Given the description of an element on the screen output the (x, y) to click on. 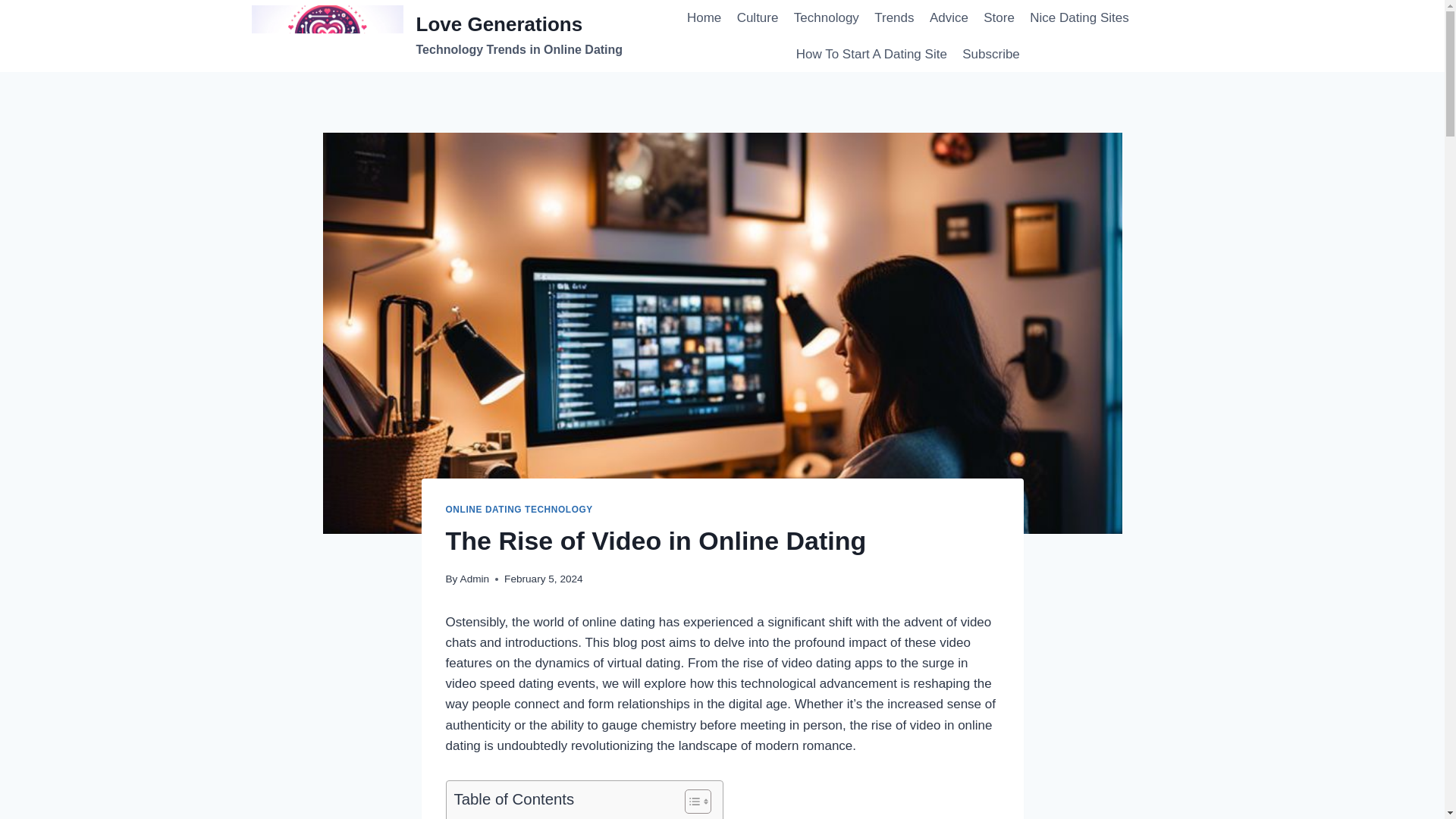
Culture (757, 18)
How To Start A Dating Site (872, 54)
Video Integration in Dating Platforms (558, 816)
Video Integration in Dating Platforms (437, 35)
ONLINE DATING TECHNOLOGY (558, 816)
Admin (518, 509)
Advice (474, 578)
Nice Dating Sites (948, 18)
Trends (1079, 18)
